Given the description of an element on the screen output the (x, y) to click on. 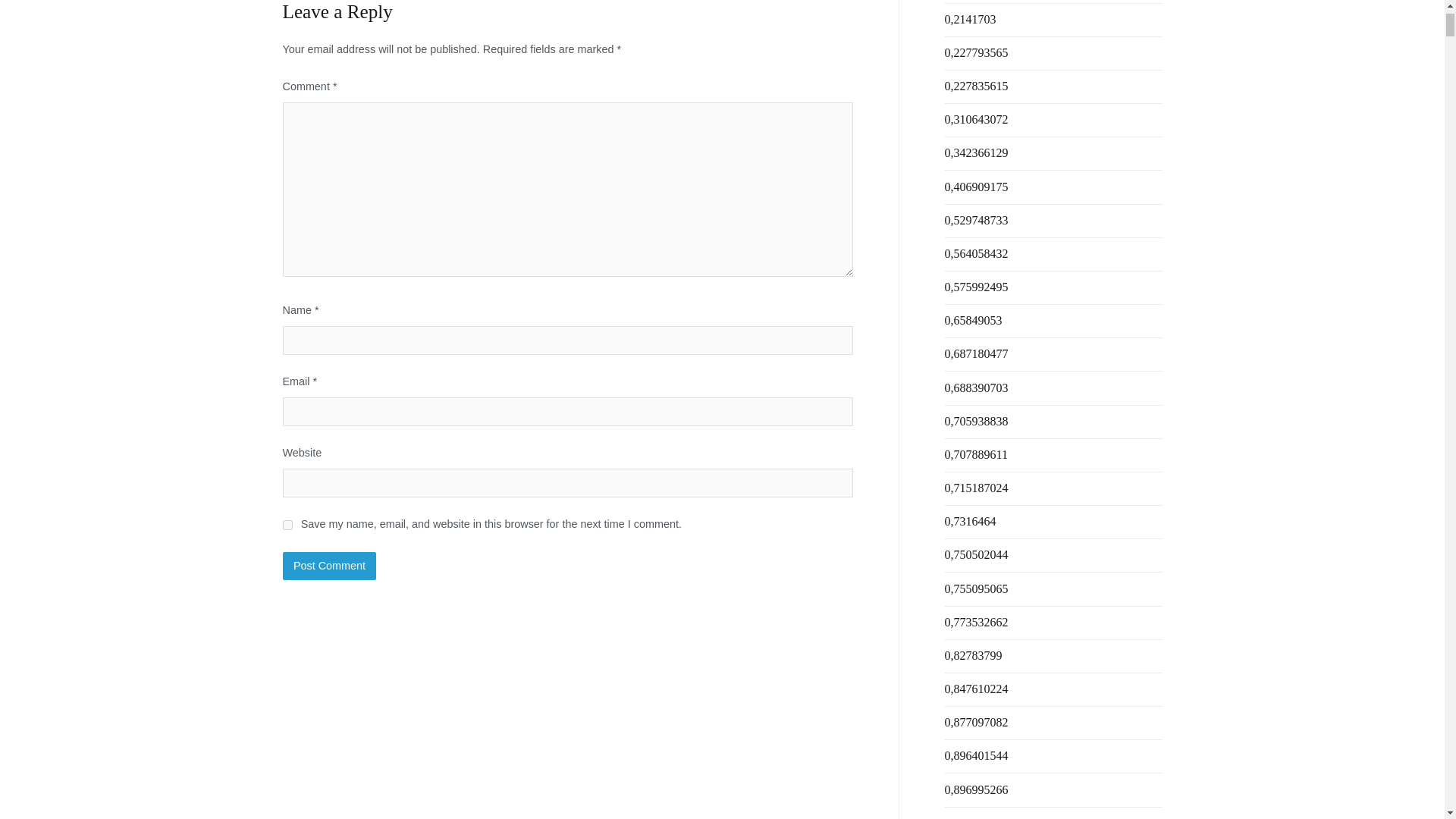
yes (287, 524)
Post Comment (328, 565)
Post Comment (328, 565)
